Given the description of an element on the screen output the (x, y) to click on. 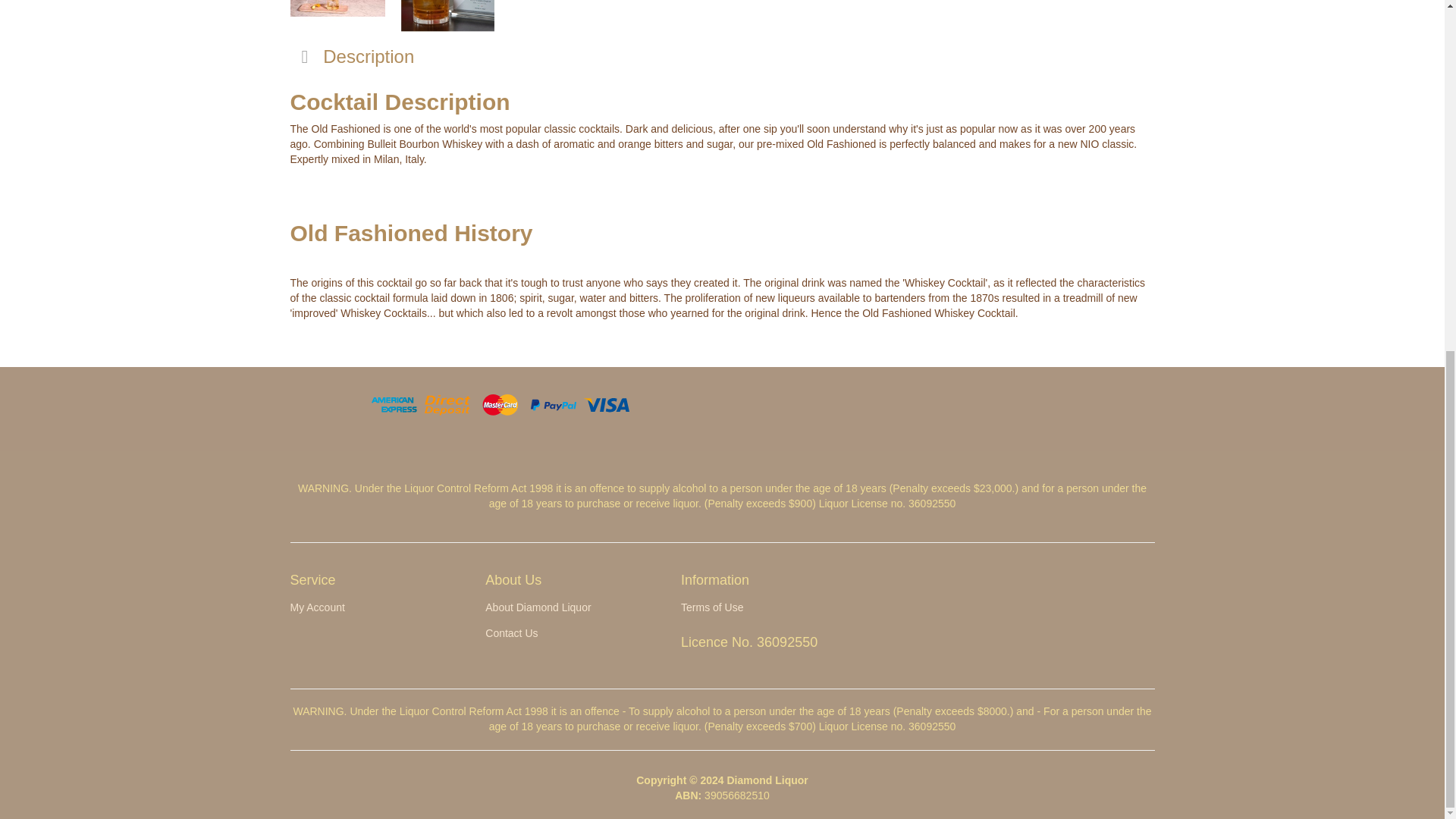
About Diamond Liquor (569, 607)
Contact Us (569, 633)
Terms of Use (765, 607)
Large View (336, 15)
My Account (374, 607)
Large View (447, 15)
